Given the description of an element on the screen output the (x, y) to click on. 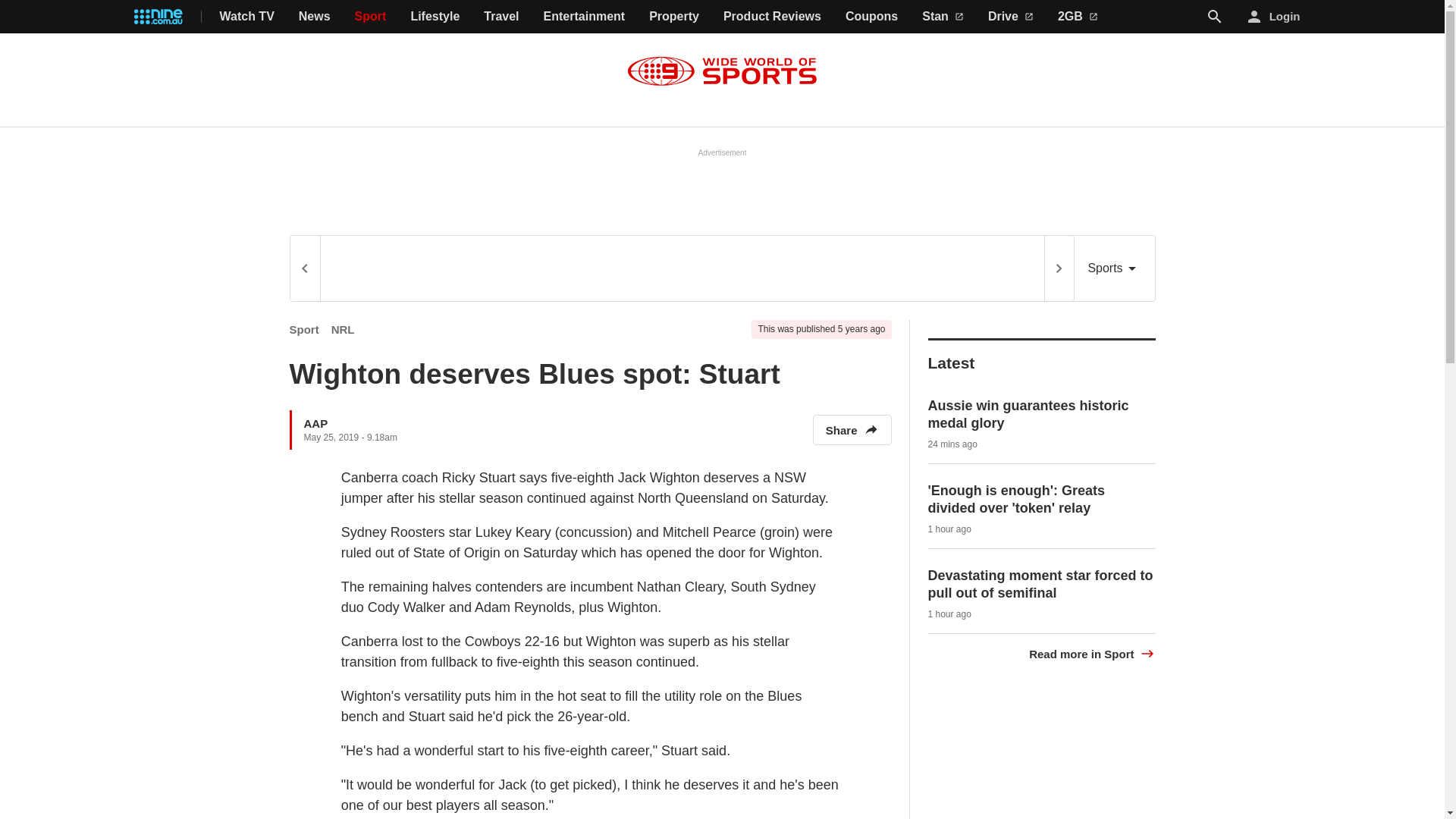
Sport (303, 328)
Sports (1114, 268)
NRL (343, 328)
Devastating moment star forced to pull out of semifinal (1040, 584)
Sport (371, 16)
Search (1214, 16)
News (314, 16)
Stan (942, 16)
Coupons (871, 16)
Read more in Sport (1091, 653)
Share (851, 429)
Entertainment (584, 16)
'Enough is enough': Greats divided over 'token' relay (1016, 499)
Travel (500, 16)
Property (673, 16)
